Given the description of an element on the screen output the (x, y) to click on. 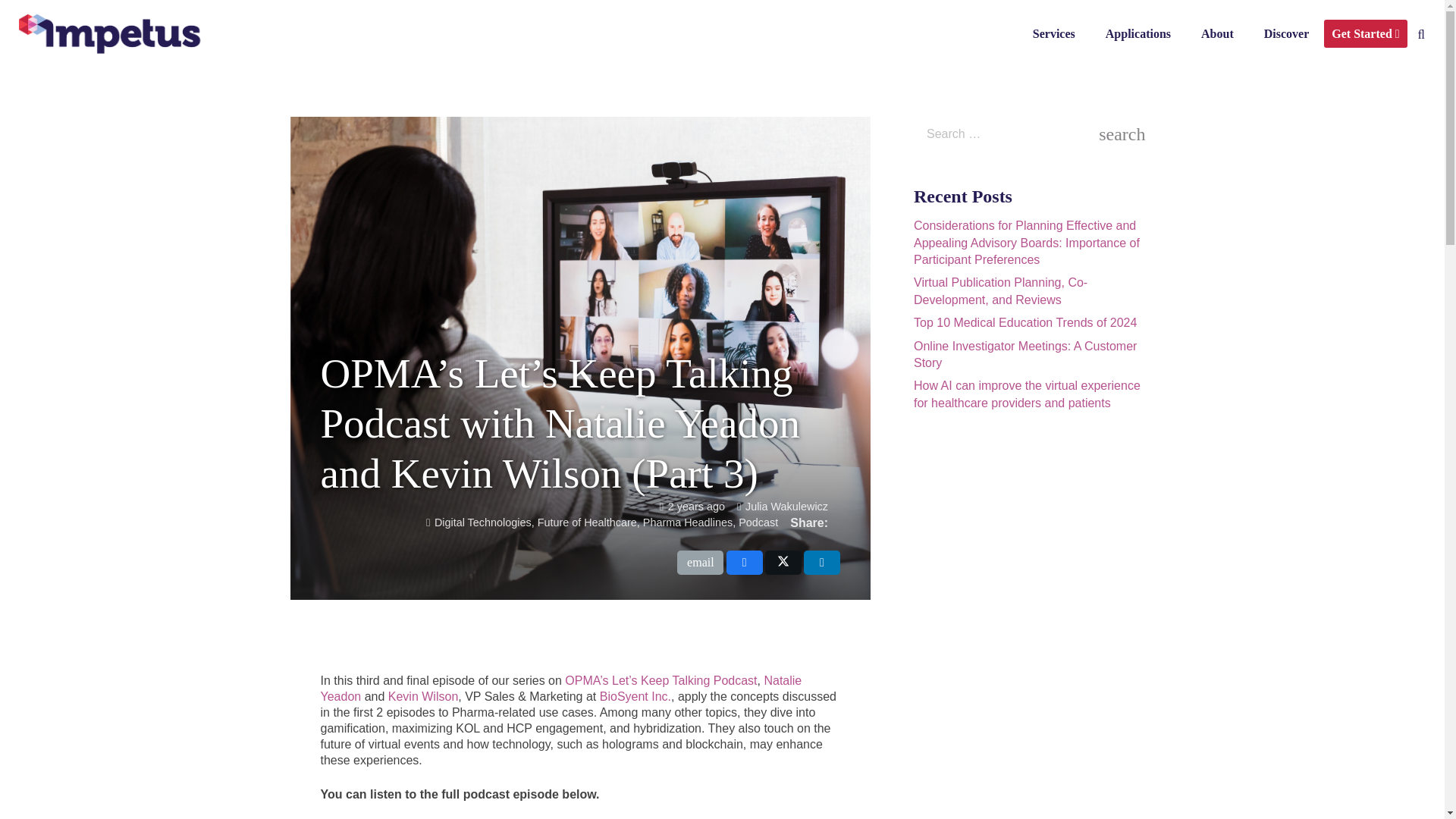
Share this (821, 562)
Email this (700, 562)
Tweet this (783, 562)
Applications (1138, 33)
Services (1053, 33)
About (1217, 33)
3 February 2022 at 16:51:33 -05:00 (692, 506)
Share this (744, 562)
Discover (1286, 33)
Get Started (1364, 33)
